Given the description of an element on the screen output the (x, y) to click on. 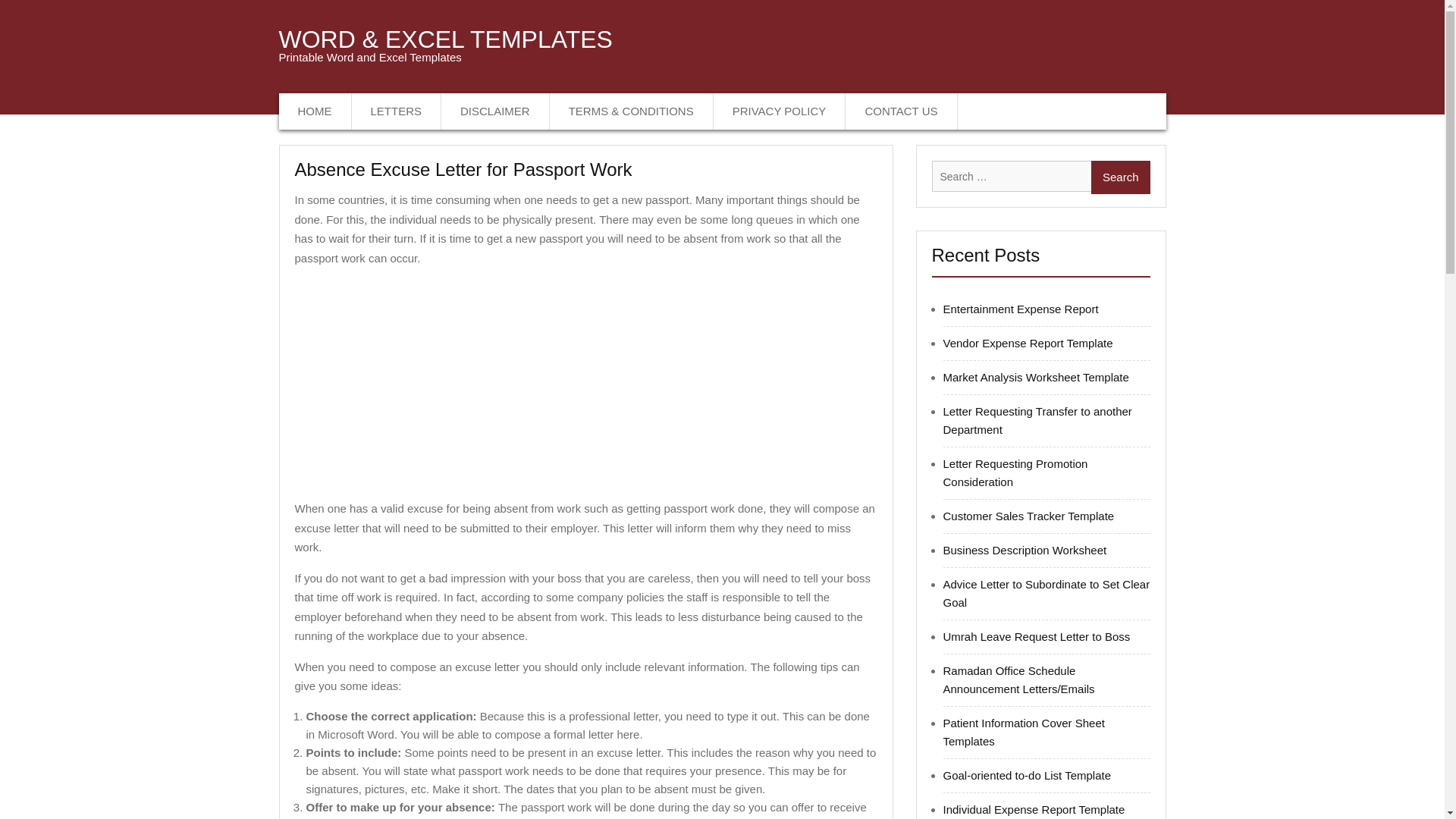
Search (1120, 177)
HOME (315, 111)
PRIVACY POLICY (779, 111)
DISCLAIMER (495, 111)
Search (1120, 177)
LETTERS (397, 111)
Letter Requesting Transfer to another Department (1037, 419)
Advice Letter to Subordinate to Set Clear Goal (1046, 593)
Goal-oriented to-do List Template (1027, 775)
Customer Sales Tracker Template (1029, 515)
Letter Requesting Promotion Consideration (1015, 472)
Search (1120, 177)
Entertainment Expense Report (1021, 308)
Umrah Leave Request Letter to Boss (1037, 635)
CONTACT US (900, 111)
